Given the description of an element on the screen output the (x, y) to click on. 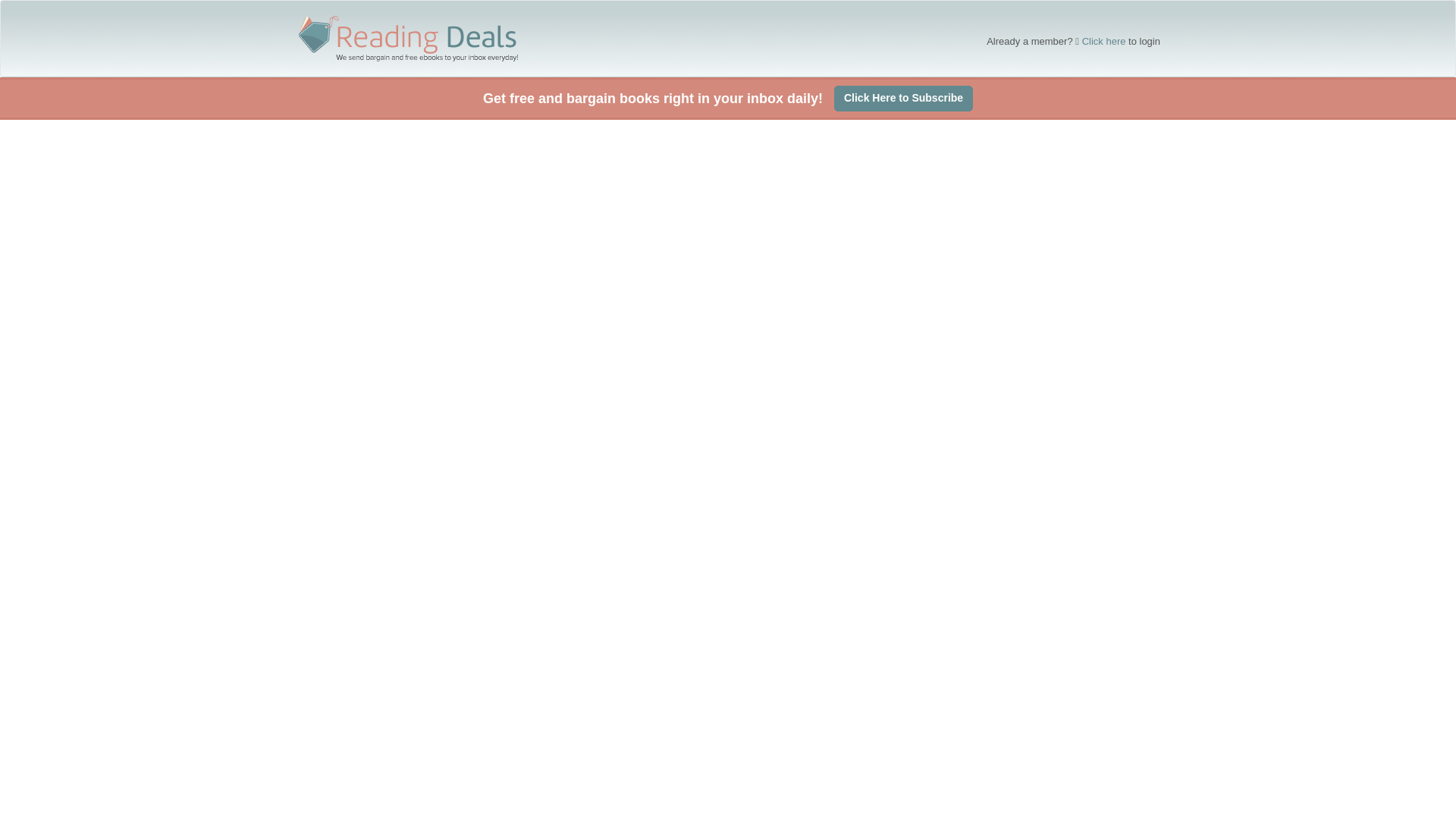
Click Here to Subscribe (903, 98)
Click here (1103, 41)
